Given the description of an element on the screen output the (x, y) to click on. 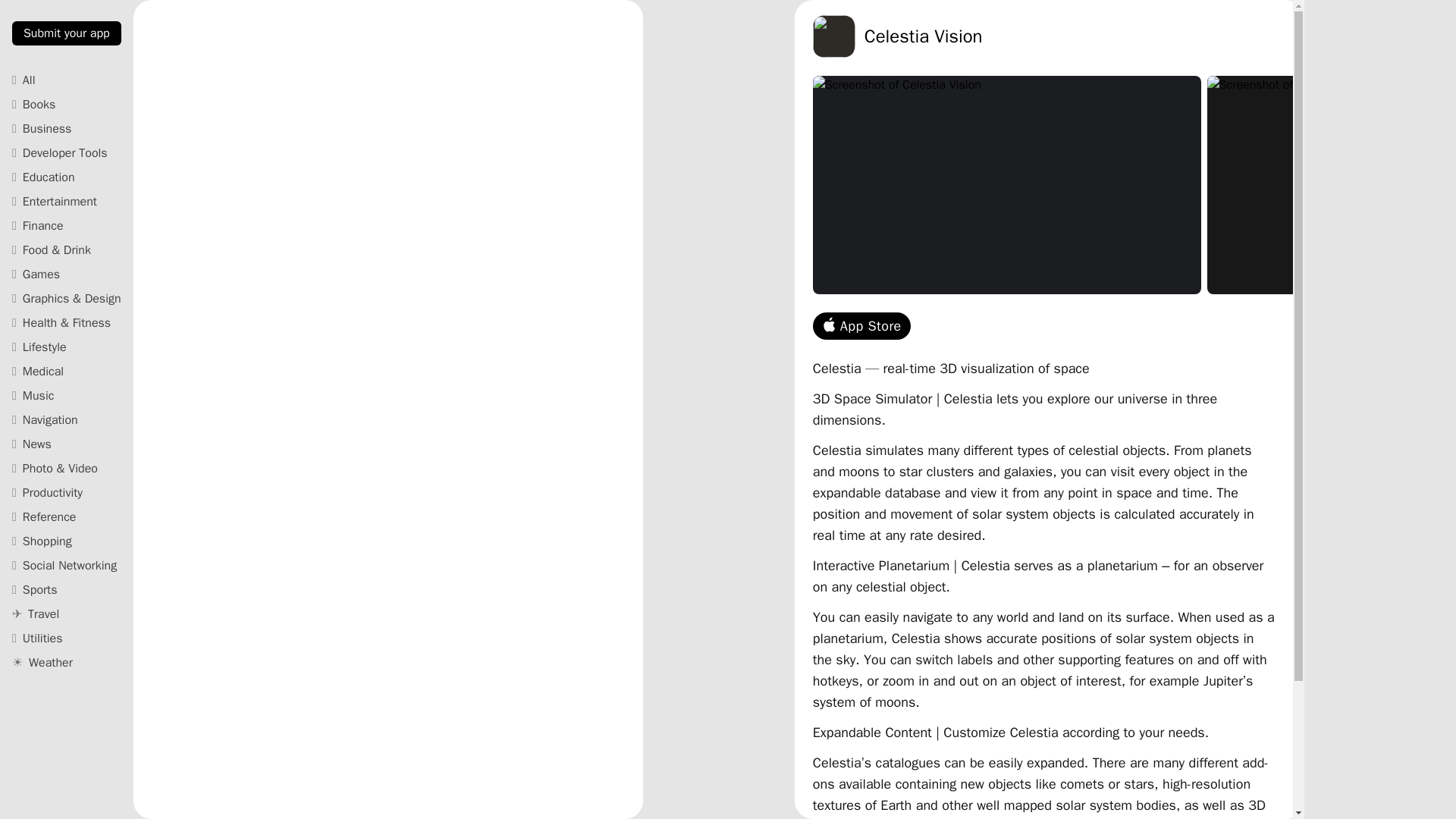
Submit your app (65, 33)
App Store (861, 325)
